Given the description of an element on the screen output the (x, y) to click on. 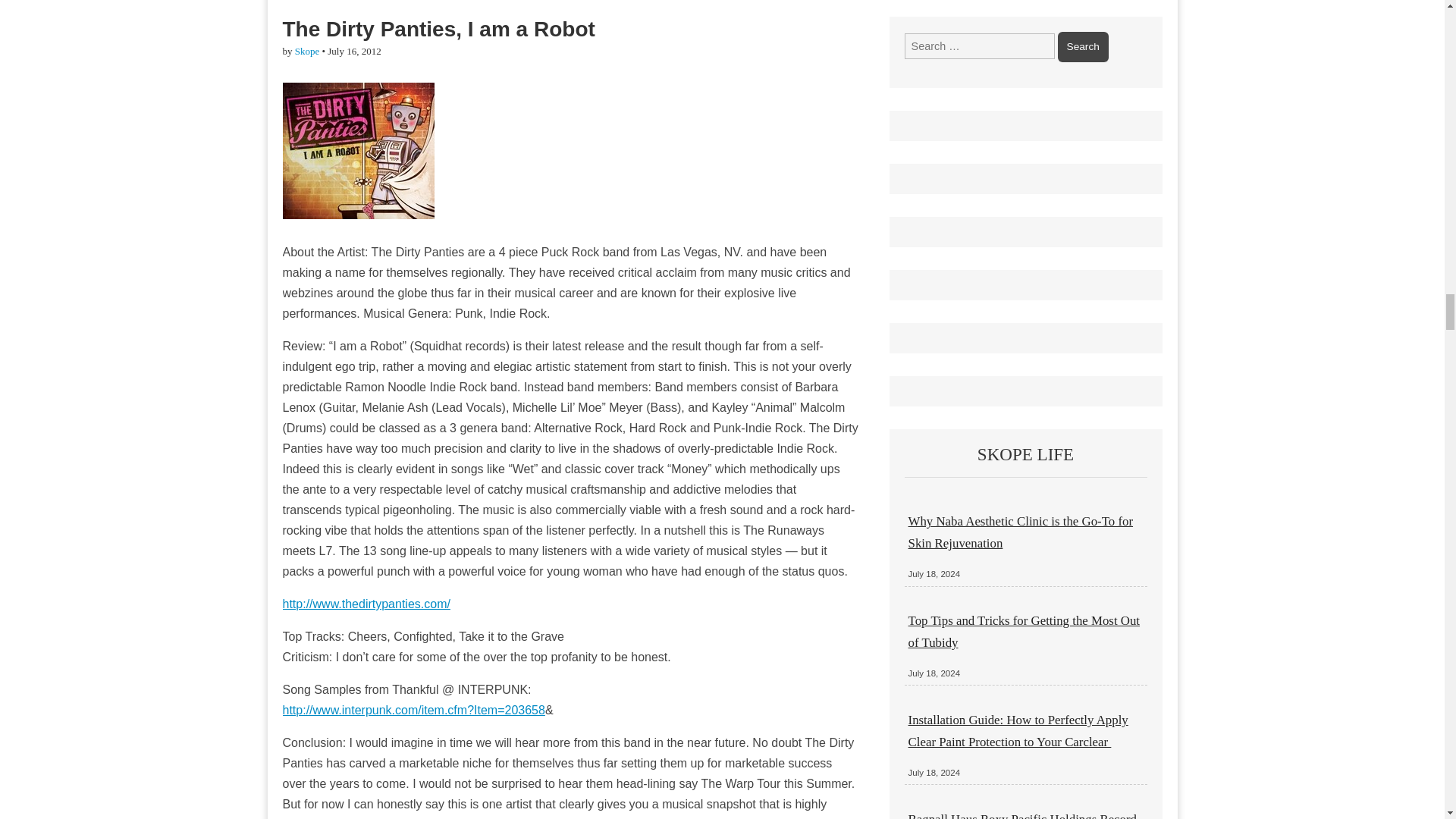
Search (1083, 46)
Top Tips and Tricks for Getting the Most Out of Tubidy (1024, 631)
Skope (307, 50)
Why Naba Aesthetic Clinic is the Go-To for Skin Rejuvenation (1021, 531)
Posts by Skope (307, 50)
Search (1083, 46)
Search (1083, 46)
